Given the description of an element on the screen output the (x, y) to click on. 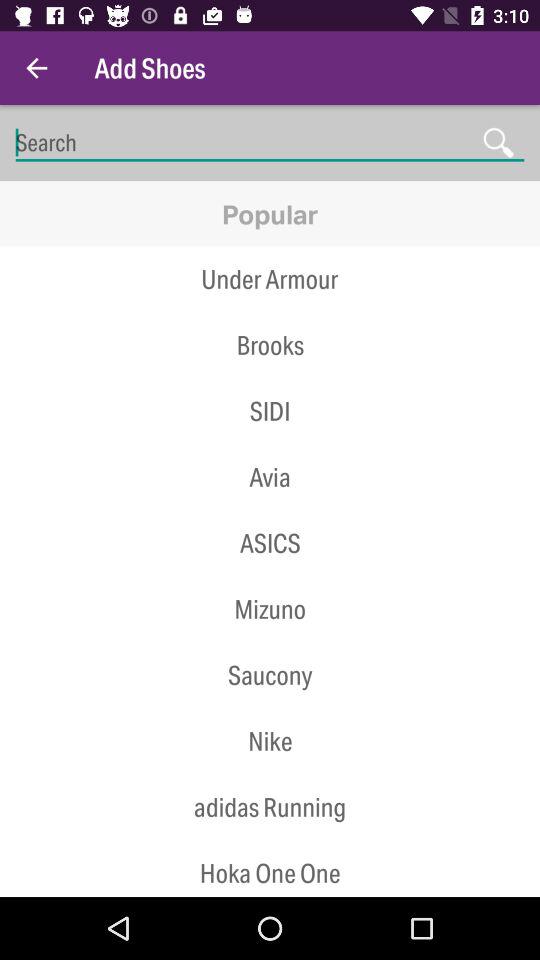
place cursor (269, 142)
